Given the description of an element on the screen output the (x, y) to click on. 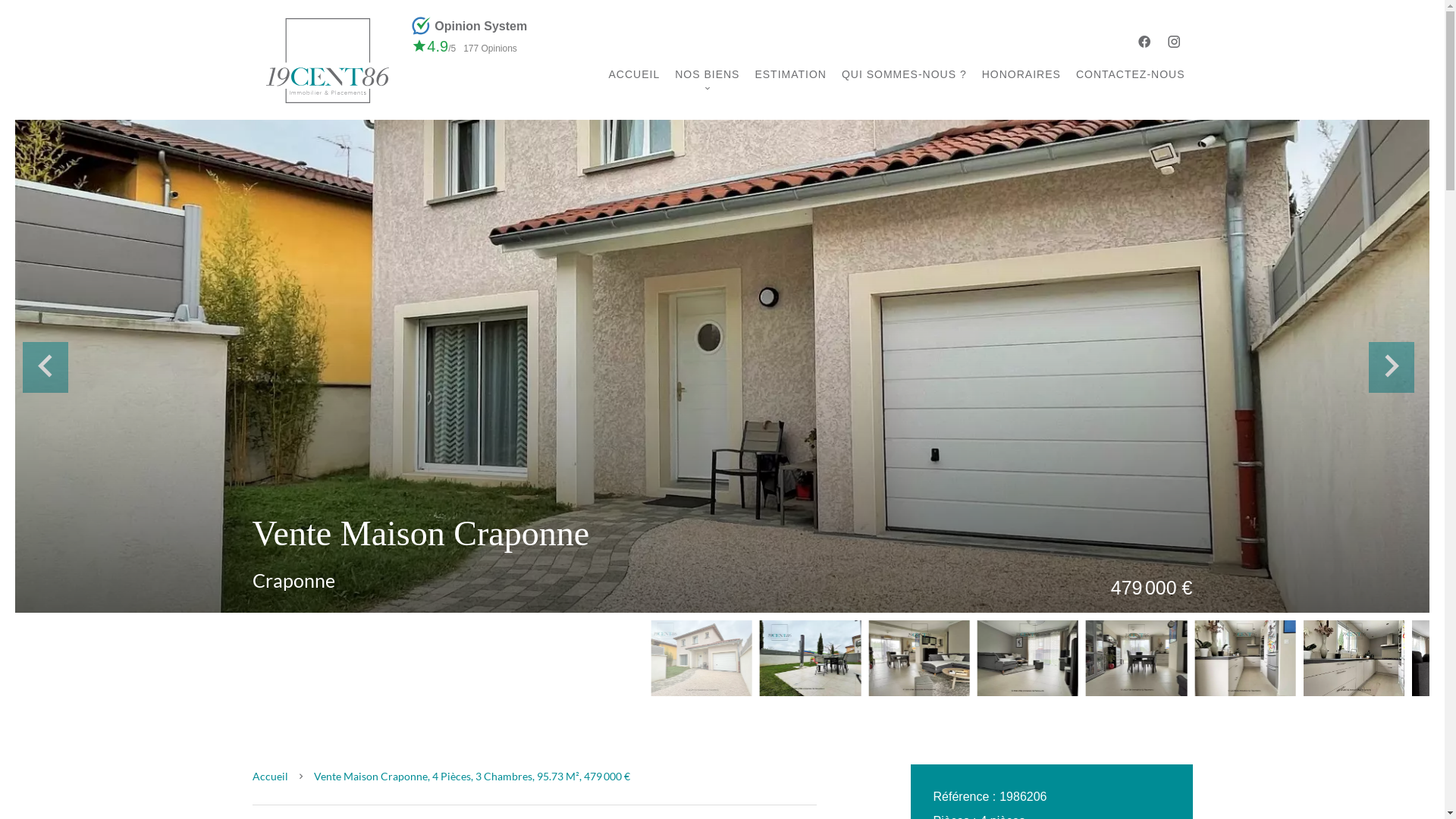
CONTACTEZ-NOUS Element type: text (1130, 74)
Opinion System
4.9/5177 Opinions Element type: text (479, 59)
NOS BIENS Element type: text (706, 74)
ESTIMATION Element type: text (790, 74)
QUI SOMMES-NOUS ? Element type: text (903, 74)
HONORAIRES Element type: text (1021, 74)
Accueil Element type: text (269, 775)
ACCUEIL Element type: text (633, 74)
